Given the description of an element on the screen output the (x, y) to click on. 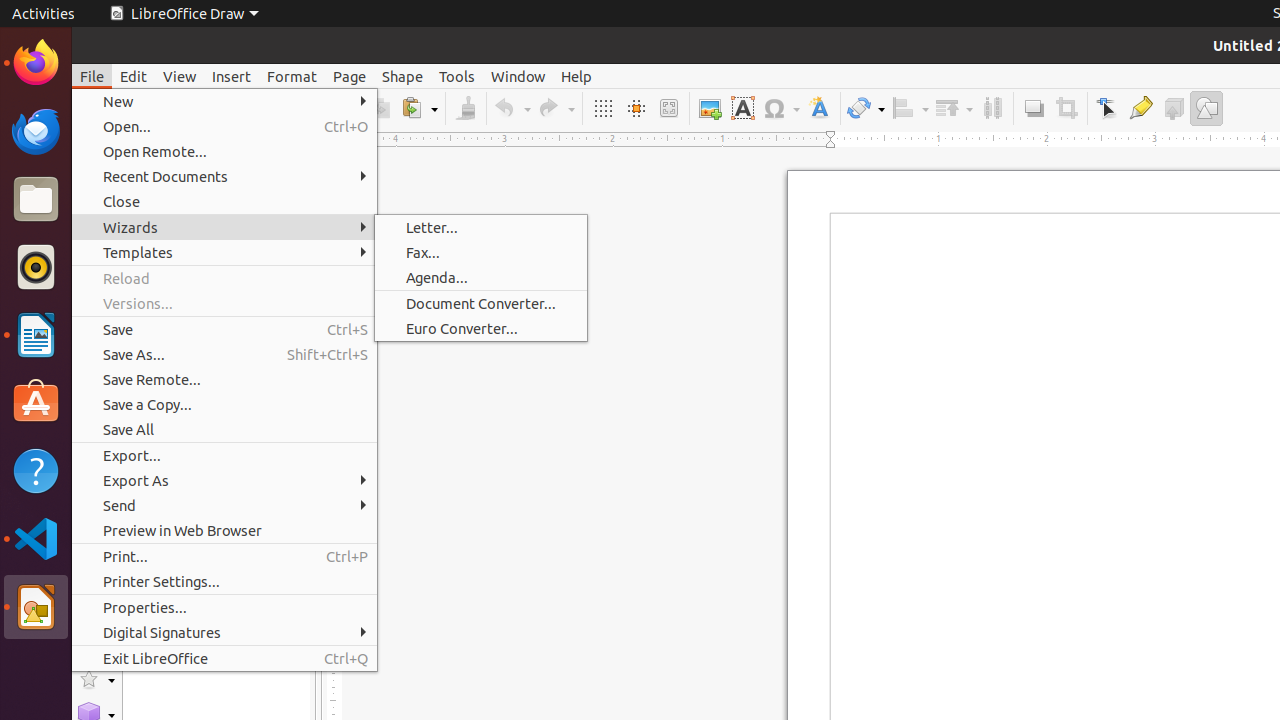
File Element type: menu (92, 76)
Crop Element type: push-button (1066, 108)
Templates Element type: menu (224, 252)
Reload Element type: menu-item (224, 278)
View Element type: menu (179, 76)
